Given the description of an element on the screen output the (x, y) to click on. 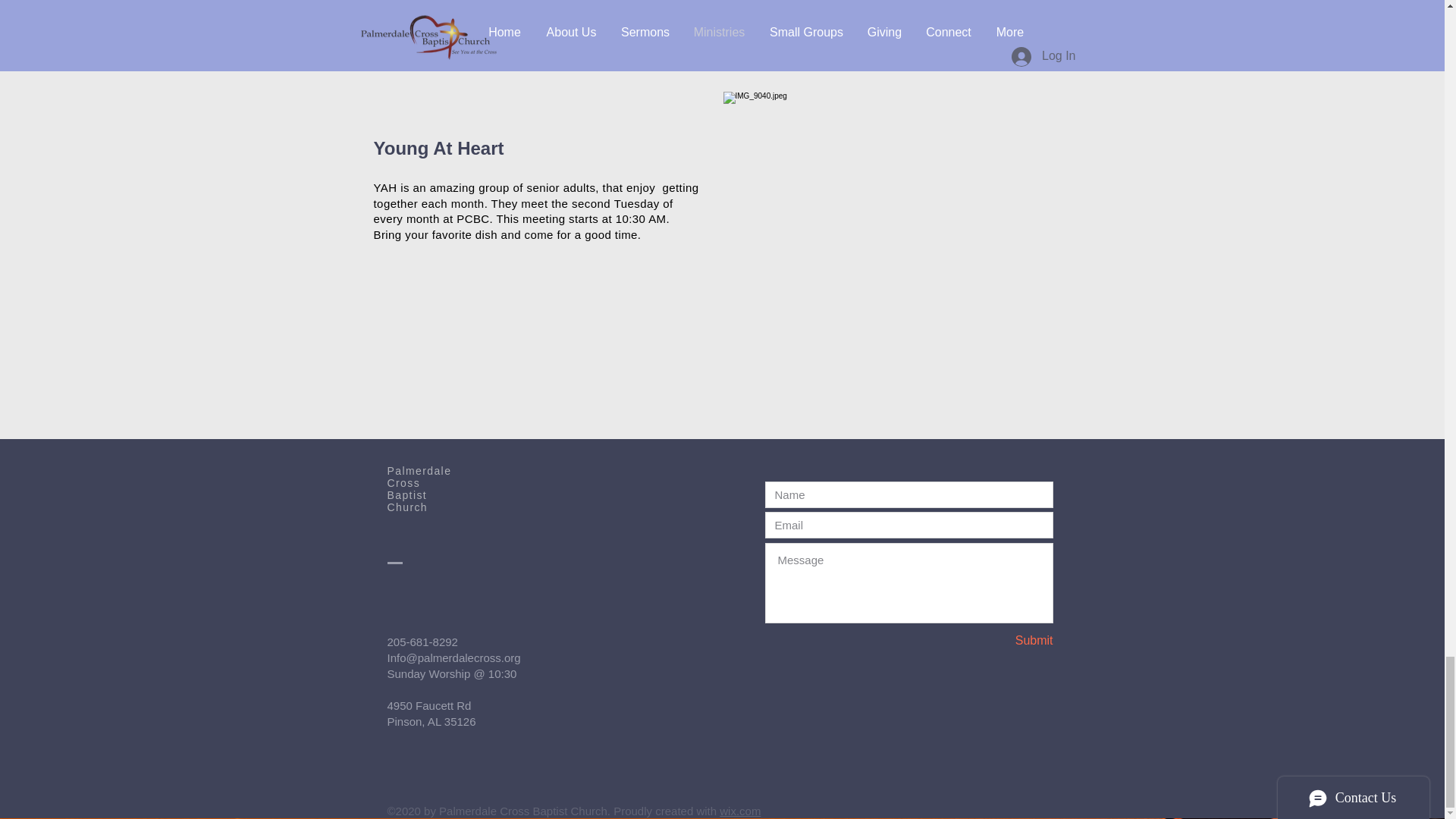
Submit (998, 641)
wix.com (739, 810)
